Given the description of an element on the screen output the (x, y) to click on. 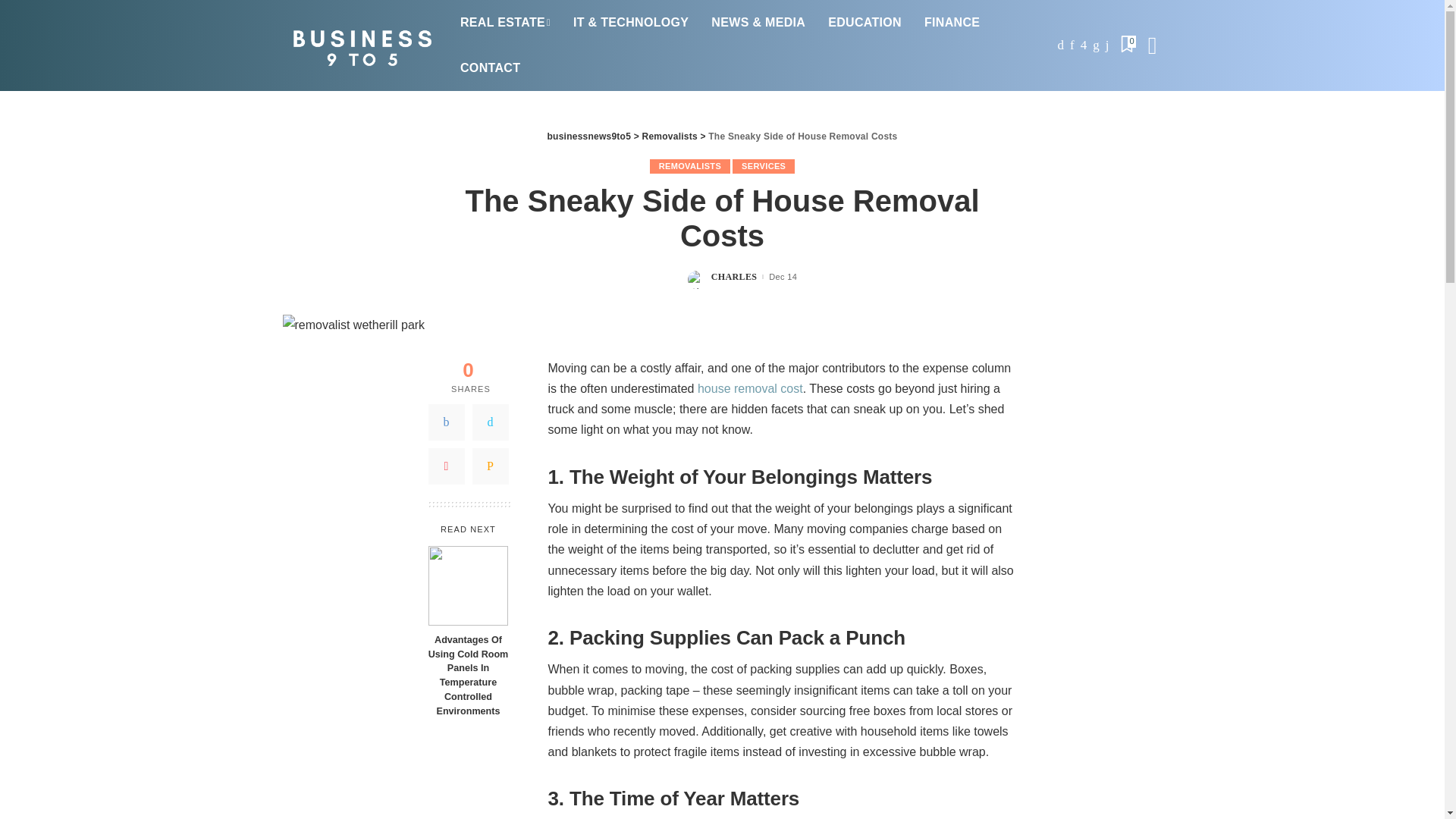
businessnews9to5 (360, 45)
